Given the description of an element on the screen output the (x, y) to click on. 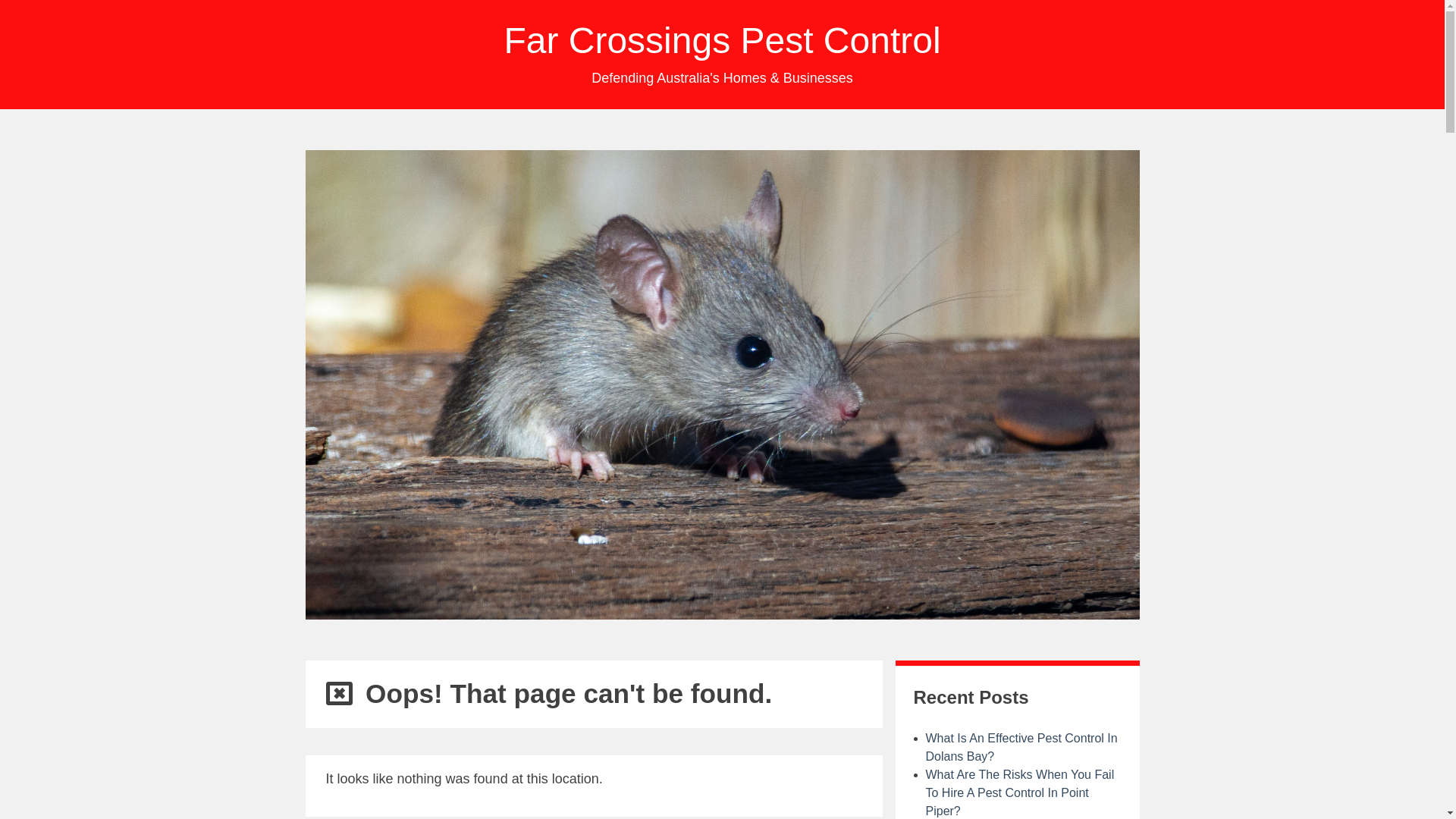
What Is An Effective Pest Control In Dolans Bay? Element type: text (1021, 746)
Far Crossings Pest Control Element type: text (721, 40)
